Given the description of an element on the screen output the (x, y) to click on. 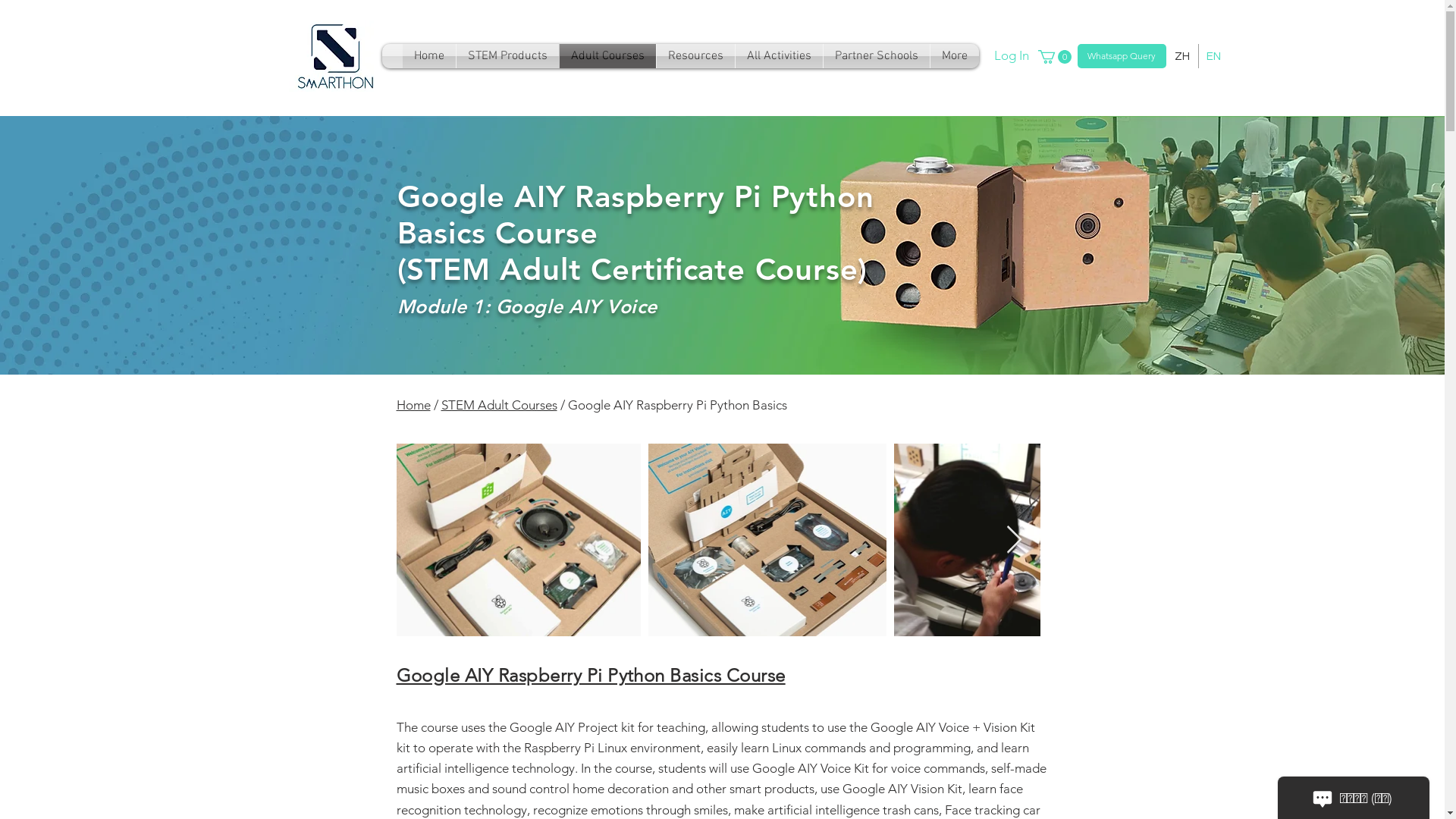
Home Element type: text (412, 404)
Adult Courses Element type: text (607, 55)
EN Element type: text (1213, 55)
Log In Element type: text (996, 55)
Home Element type: text (428, 55)
0 Element type: text (1053, 56)
STEM Products Element type: text (507, 55)
ZH Element type: text (1181, 55)
Partner Schools Element type: text (876, 55)
STEM Adult Courses Element type: text (499, 404)
Whatsapp Query Element type: text (1120, 55)
